Given the description of an element on the screen output the (x, y) to click on. 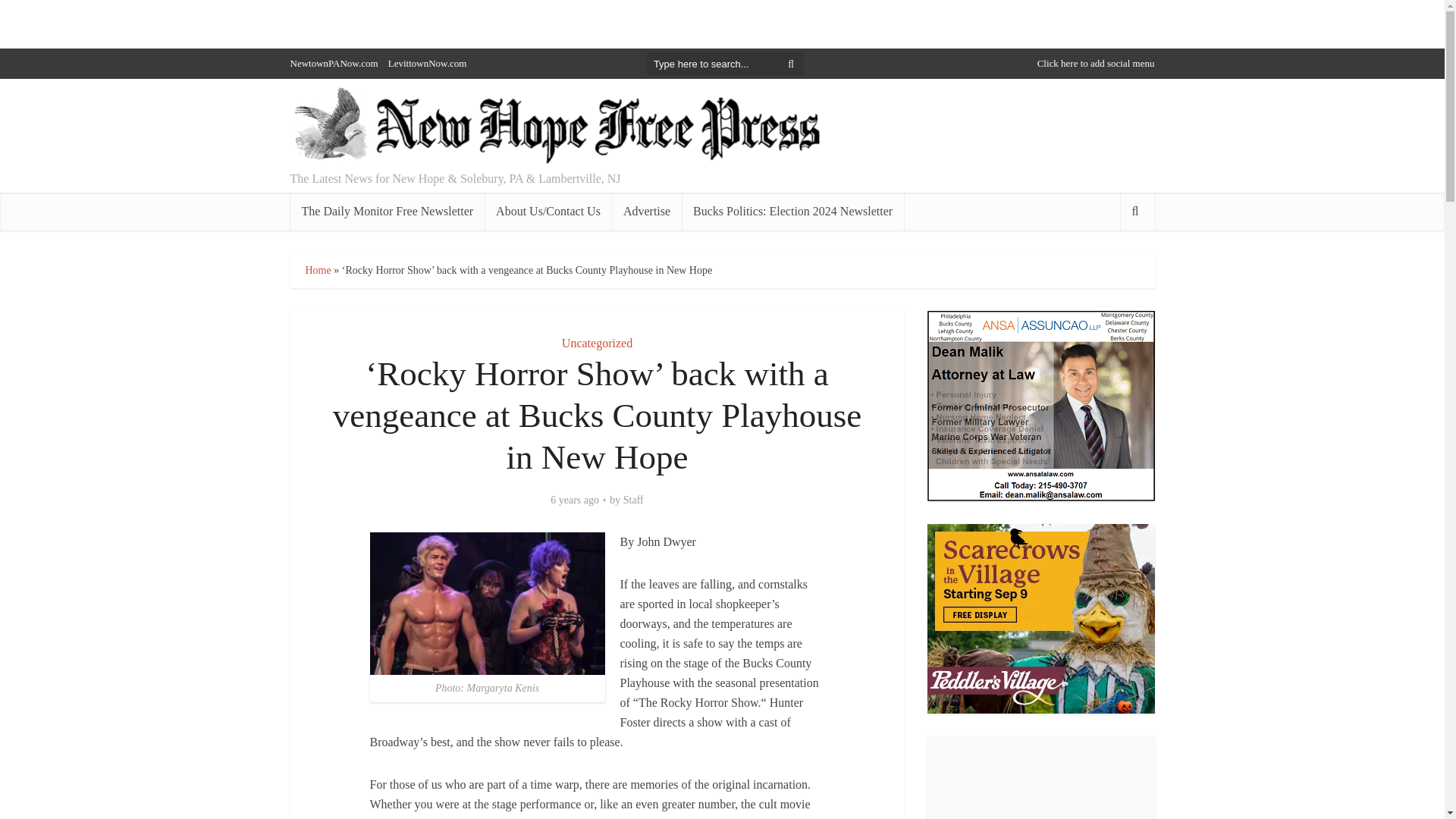
The Daily Monitor Free Newsletter (386, 211)
Uncategorized (596, 342)
Click here to add social menu (1095, 62)
Home (317, 270)
Type here to search... (724, 63)
Type here to search... (724, 63)
New Hope Free Press (555, 126)
LevittownNow.com (427, 62)
NewtownPANow.com (333, 62)
Advertise (646, 211)
